Given the description of an element on the screen output the (x, y) to click on. 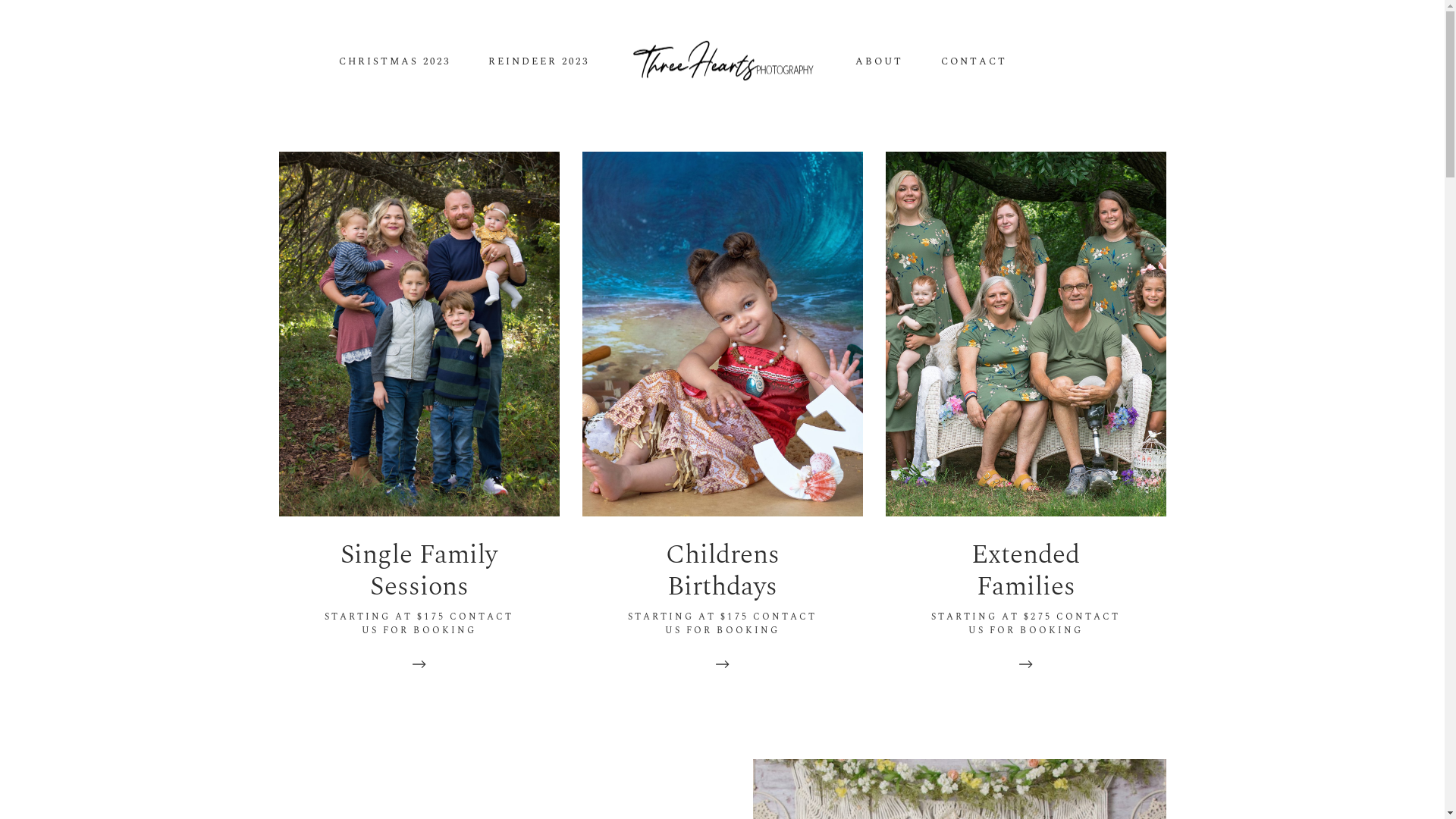
ABOUT Element type: text (878, 61)
CHRISTMAS 2023 Element type: text (394, 61)
CONTACT Element type: text (974, 61)
Childrens Birthdays
STARTING AT $175 CONTACT US FOR BOOKING Element type: text (722, 424)
REINDEER 2023 Element type: text (538, 61)
Extended Families
STARTING AT $275 CONTACT US FOR BOOKING Element type: text (1025, 424)
